Given the description of an element on the screen output the (x, y) to click on. 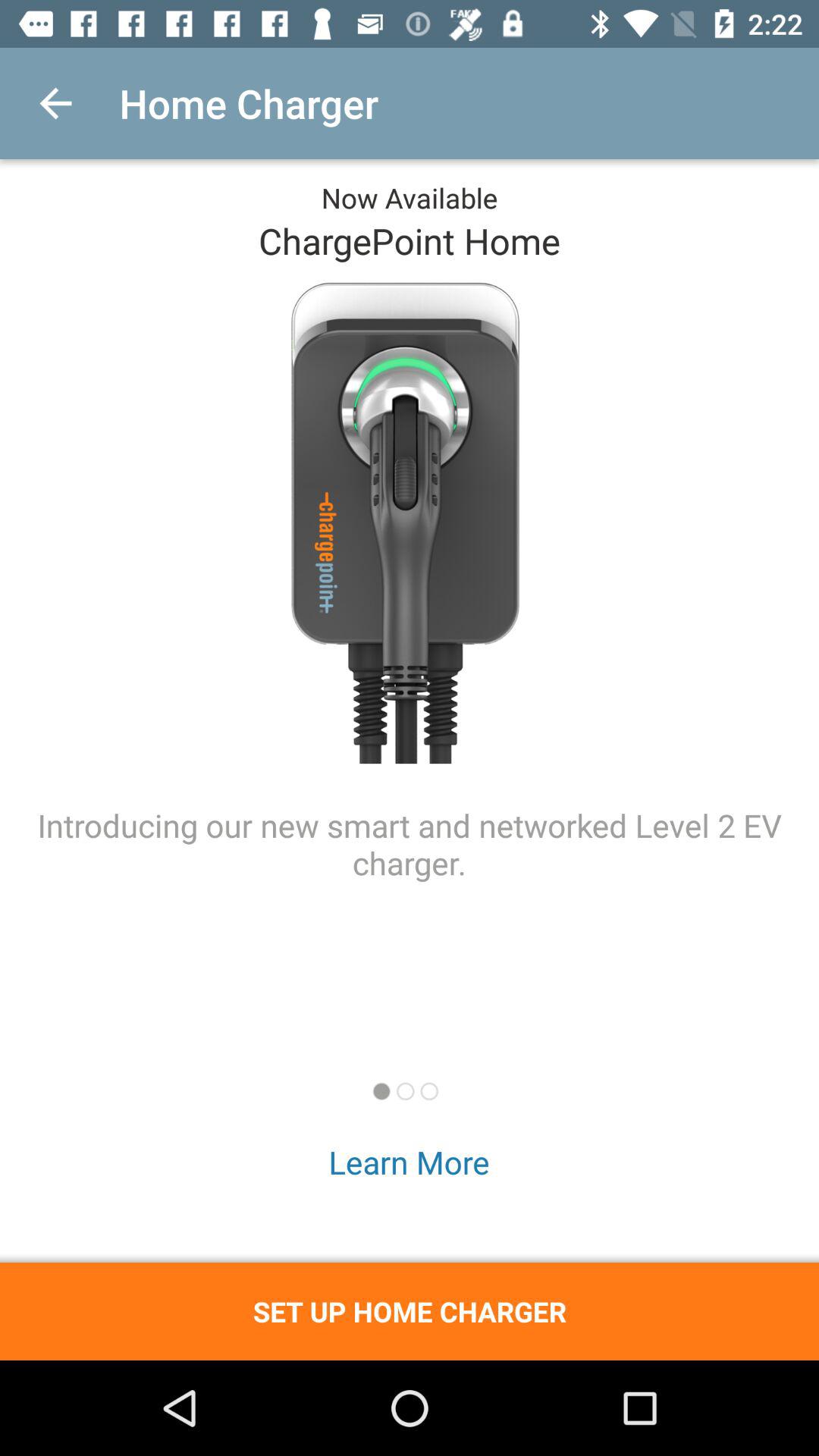
jump to the learn more item (408, 1161)
